Given the description of an element on the screen output the (x, y) to click on. 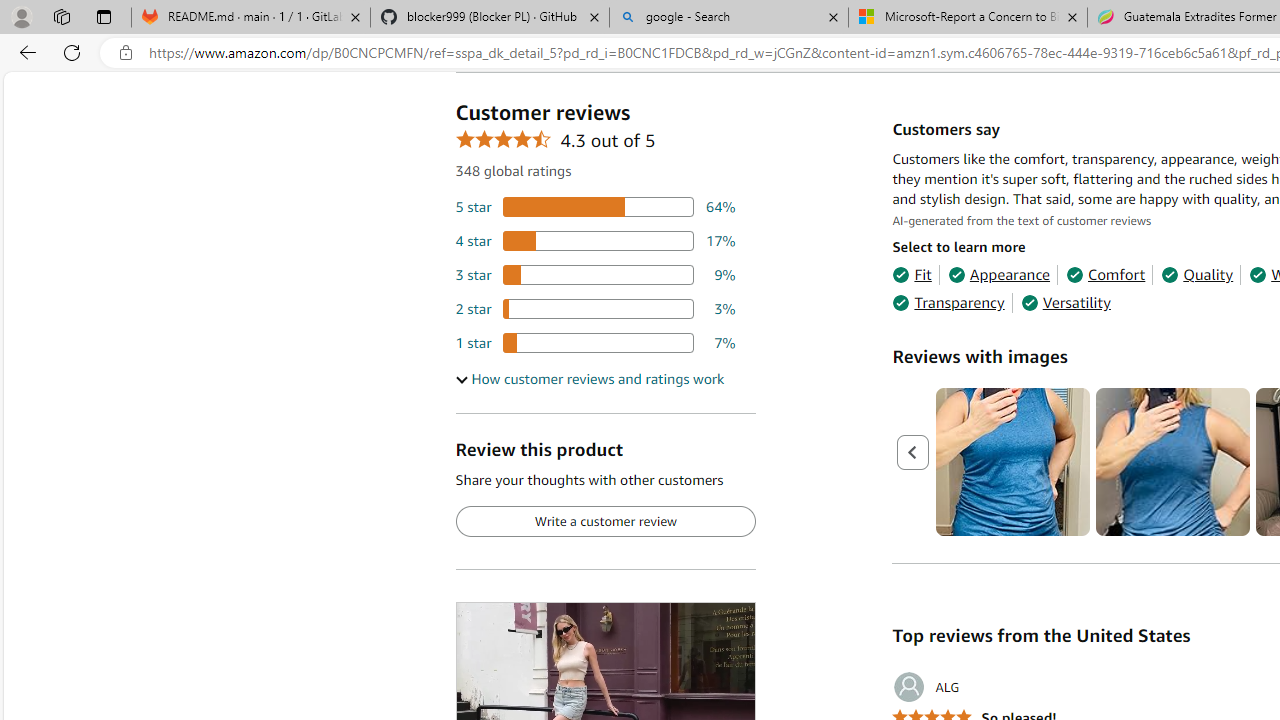
Microsoft-Report a Concern to Bing (967, 17)
Customer Image (1172, 462)
How customer reviews and ratings work (589, 379)
Quality (1196, 274)
google - Search (729, 17)
Appearance (998, 274)
3 percent of reviews have 2 stars (595, 308)
Write a customer review (605, 521)
Comfort (1105, 274)
Previous page (913, 452)
